Given the description of an element on the screen output the (x, y) to click on. 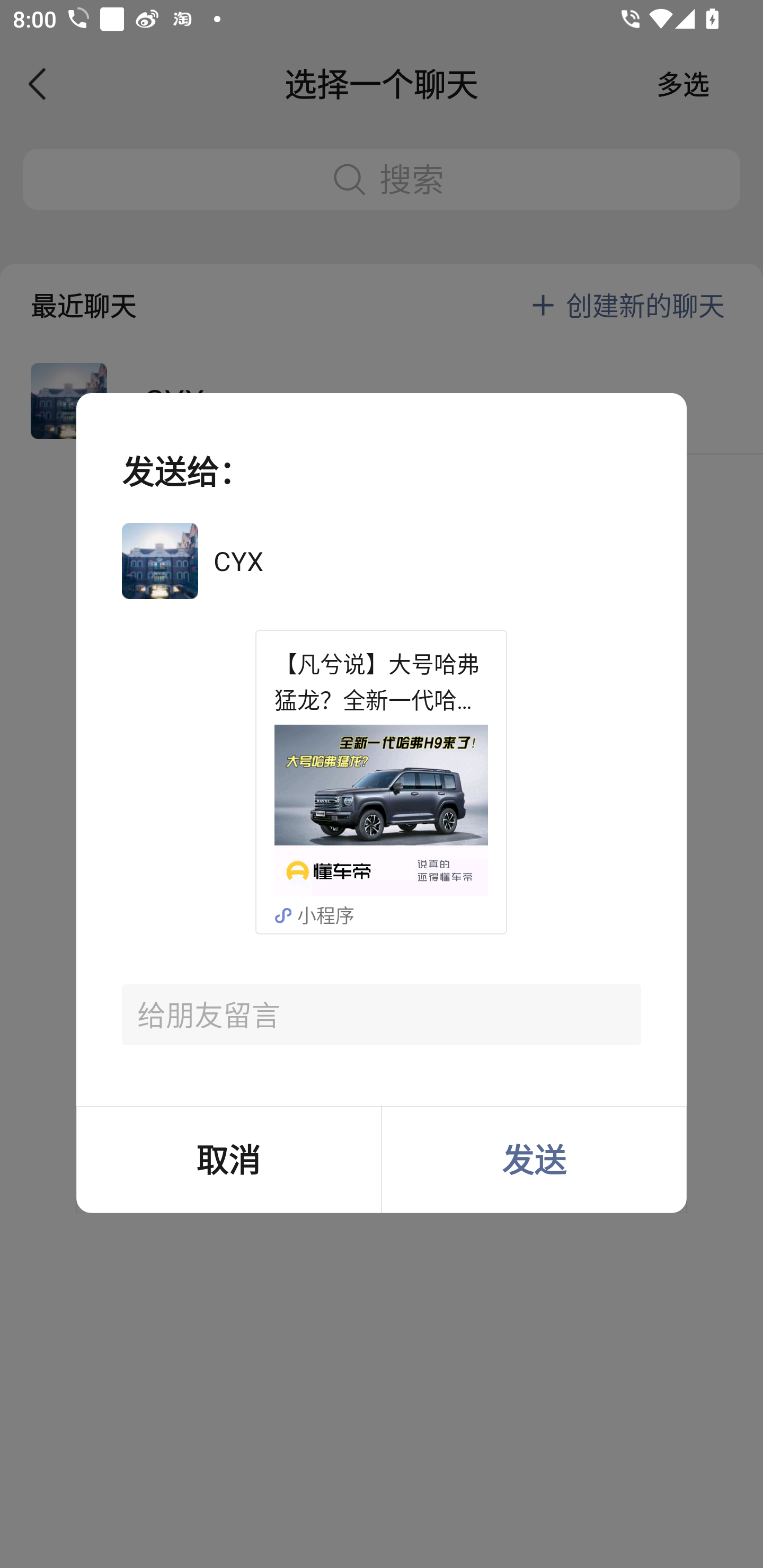
小程序 (335, 914)
给朋友留言 (381, 1014)
取消 (228, 1159)
发送 (534, 1159)
